Given the description of an element on the screen output the (x, y) to click on. 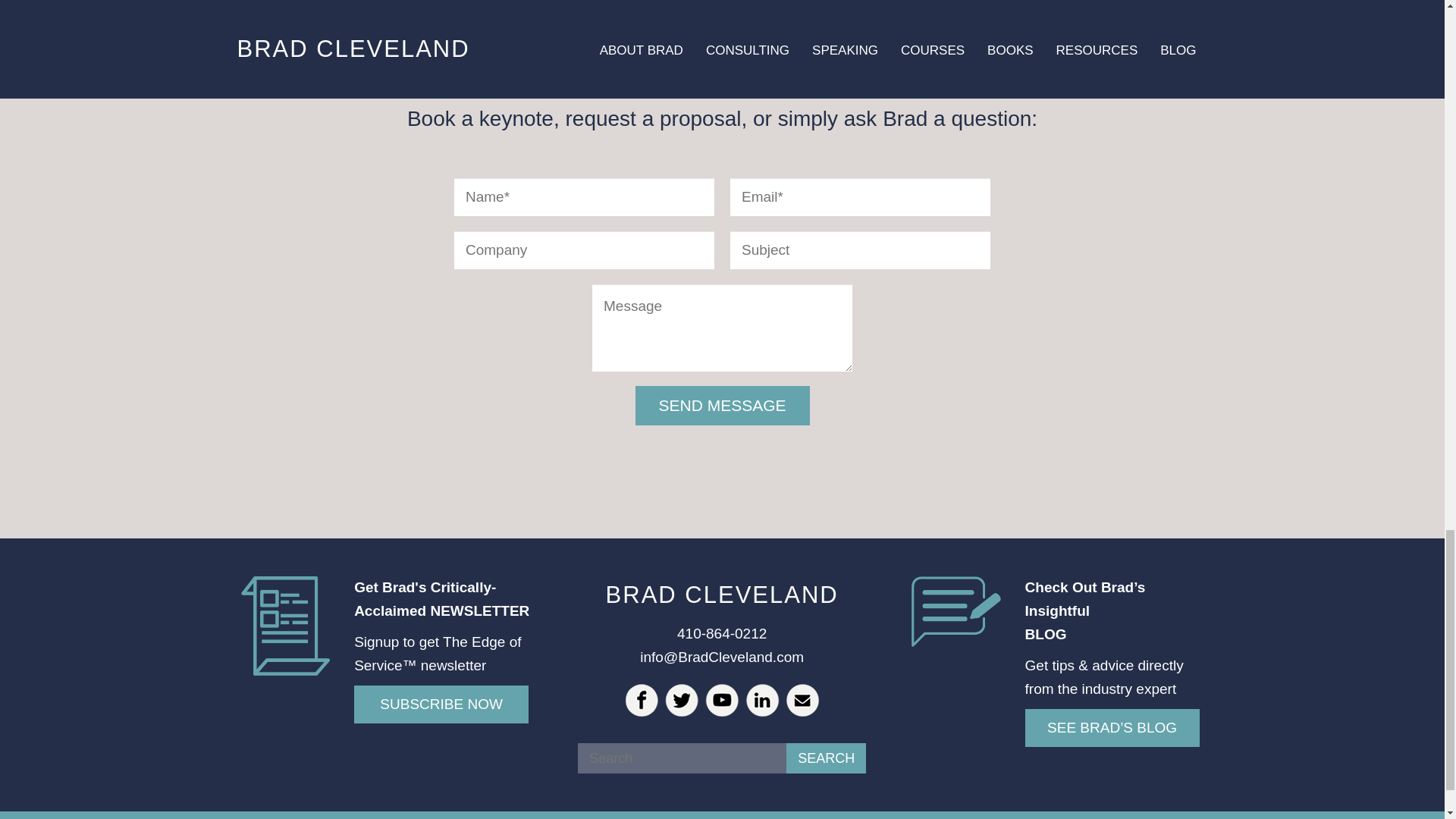
Send Message (721, 405)
